Given the description of an element on the screen output the (x, y) to click on. 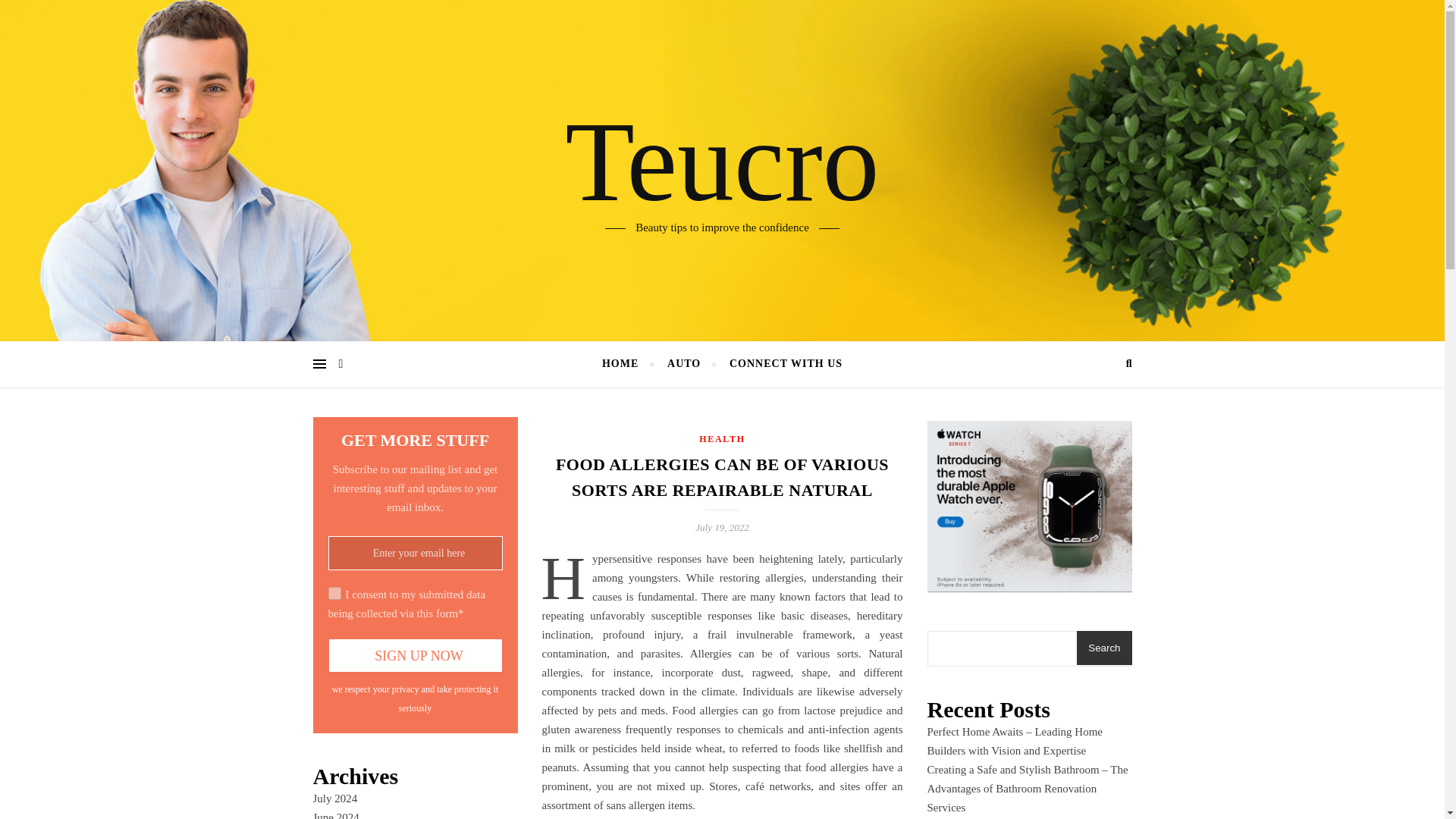
CONNECT WITH US (779, 363)
June 2024 (335, 815)
July 2024 (334, 798)
HOME (626, 363)
Sign Up Now (414, 655)
AUTO (683, 363)
on (333, 593)
Sign Up Now (414, 655)
